Given the description of an element on the screen output the (x, y) to click on. 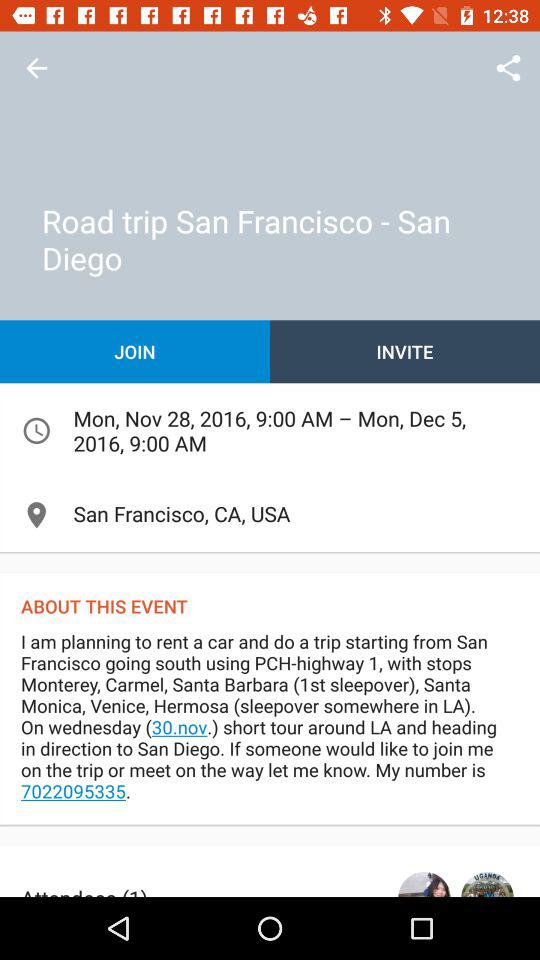
launch icon next to join (405, 351)
